Given the description of an element on the screen output the (x, y) to click on. 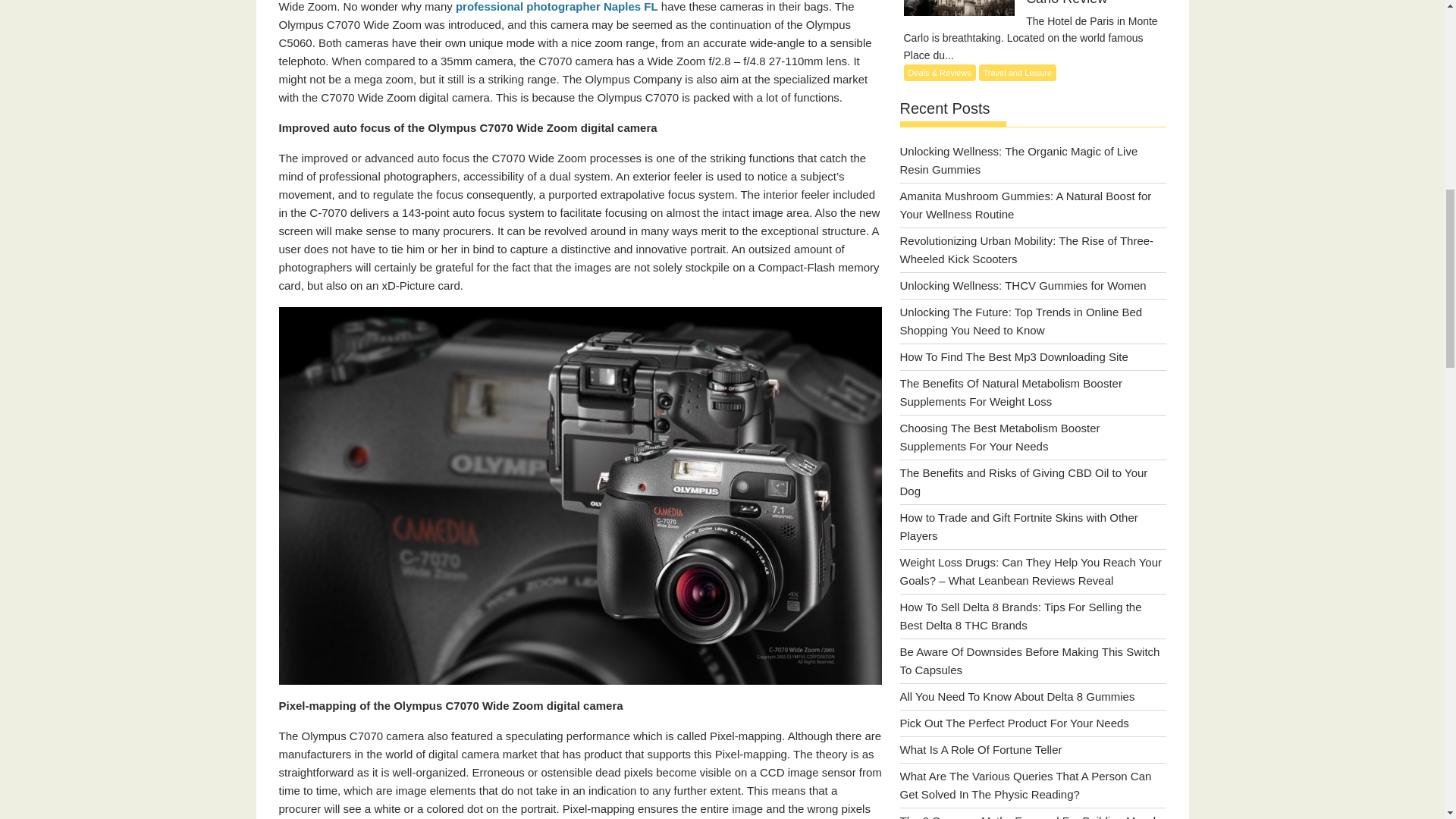
professional photographer Naples FL (556, 6)
